Given the description of an element on the screen output the (x, y) to click on. 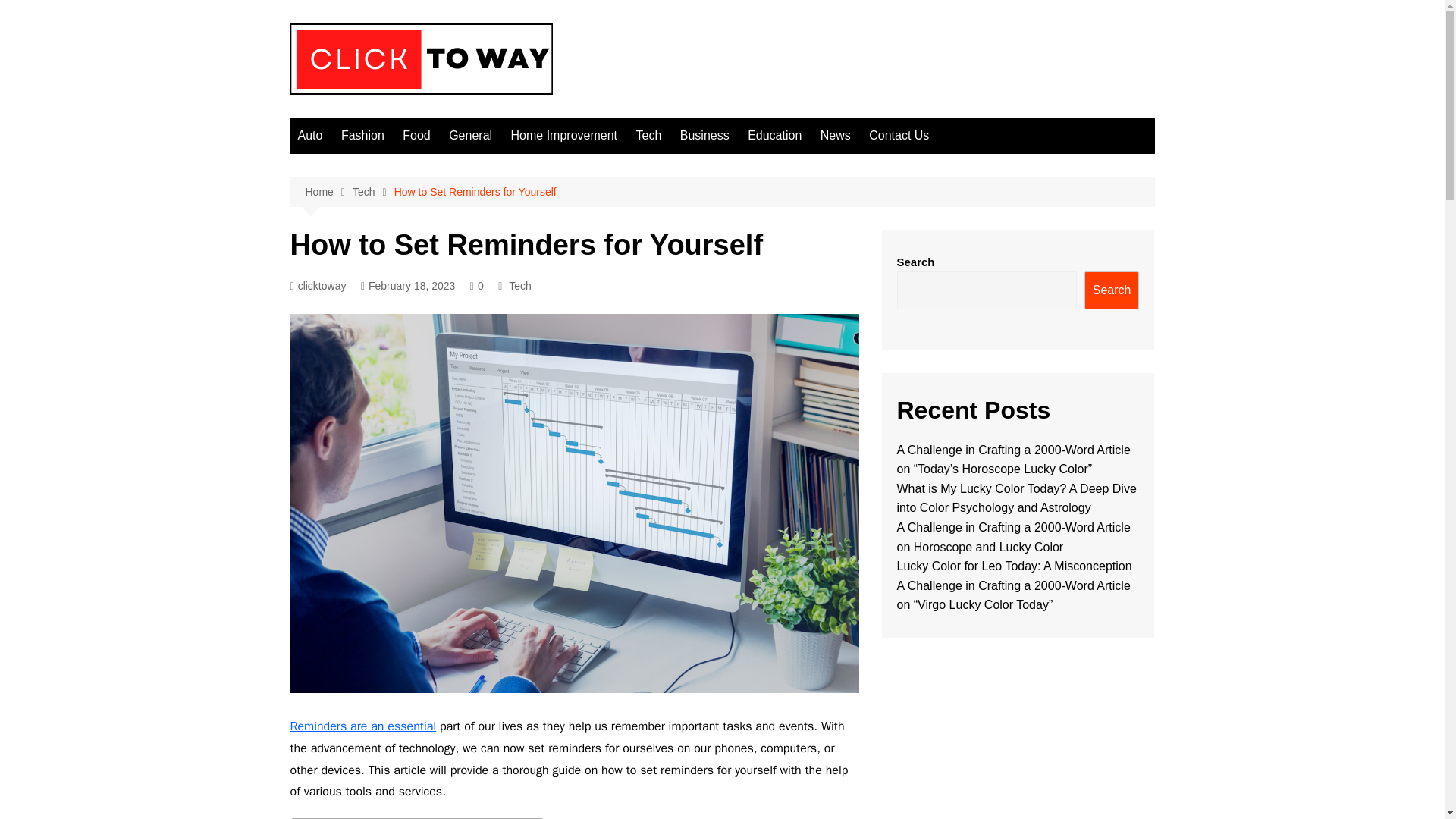
Reminders are an essential (362, 726)
Tech (647, 135)
Tech (519, 285)
Home Improvement (564, 135)
News (835, 135)
Education (774, 135)
Auto (309, 135)
Contact Us (898, 135)
Home (328, 191)
Business (704, 135)
clicktoway (317, 285)
Tech (373, 191)
How to Set Reminders for Yourself (475, 191)
February 18, 2023 (408, 285)
General (470, 135)
